Given the description of an element on the screen output the (x, y) to click on. 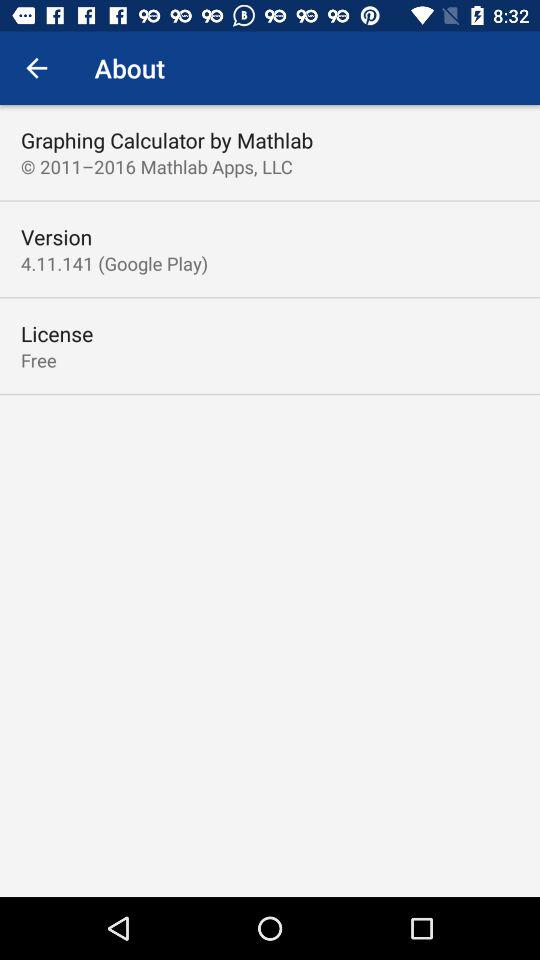
press the 2011 2016 mathlab (156, 166)
